Given the description of an element on the screen output the (x, y) to click on. 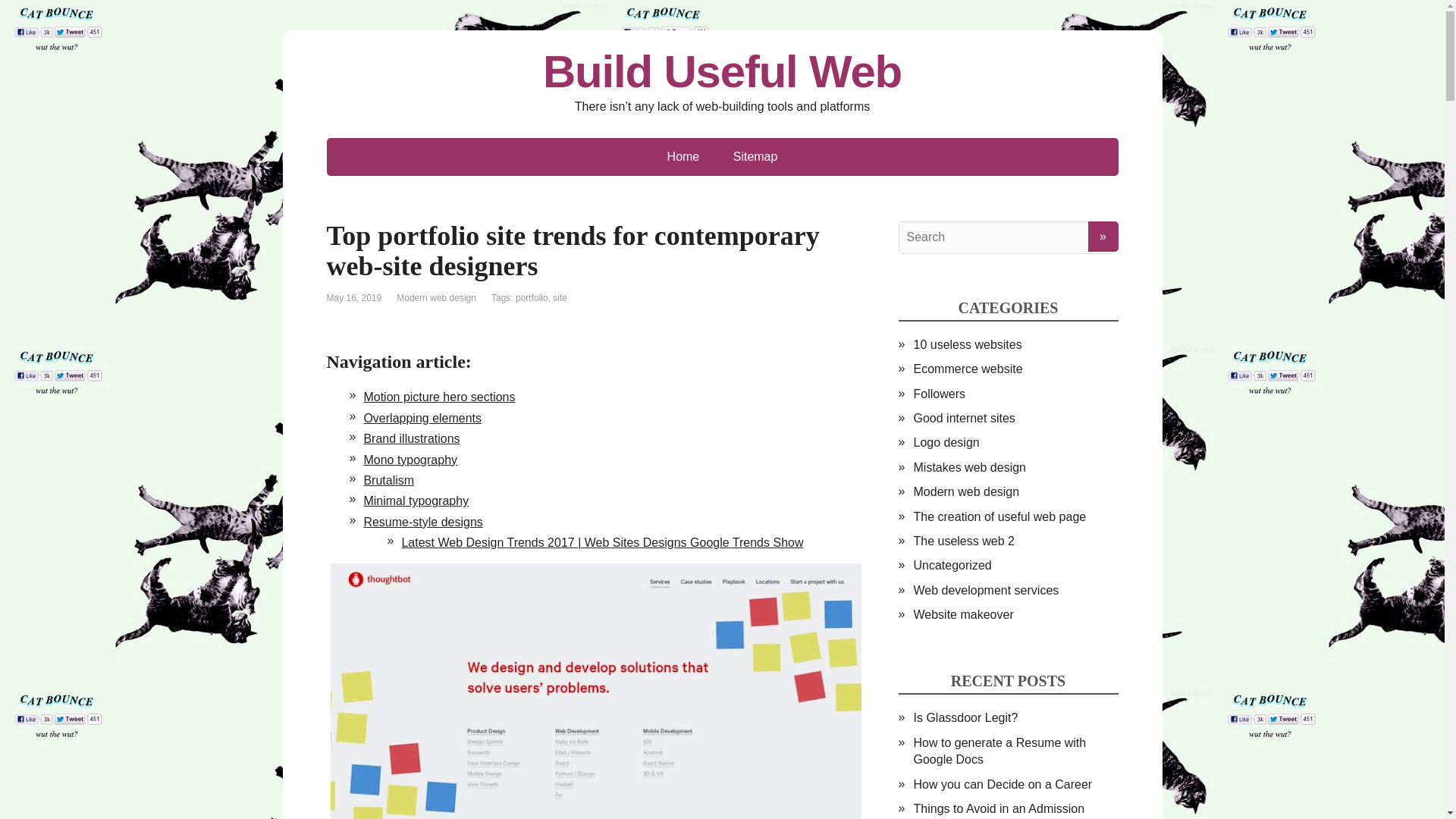
Is Glassdoor Legit? (964, 717)
Modern web design (436, 297)
Followers (937, 393)
Build Useful Web (722, 71)
Brand illustrations (411, 438)
Minimal typography (415, 500)
Motion picture hero sections (438, 396)
Uncategorized (951, 564)
Build Useful Web (722, 71)
Ecommerce website (967, 368)
Good internet sites (963, 418)
Resume-style designs (421, 521)
Home (683, 157)
portfolio (531, 297)
Mistakes web design (969, 467)
